Given the description of an element on the screen output the (x, y) to click on. 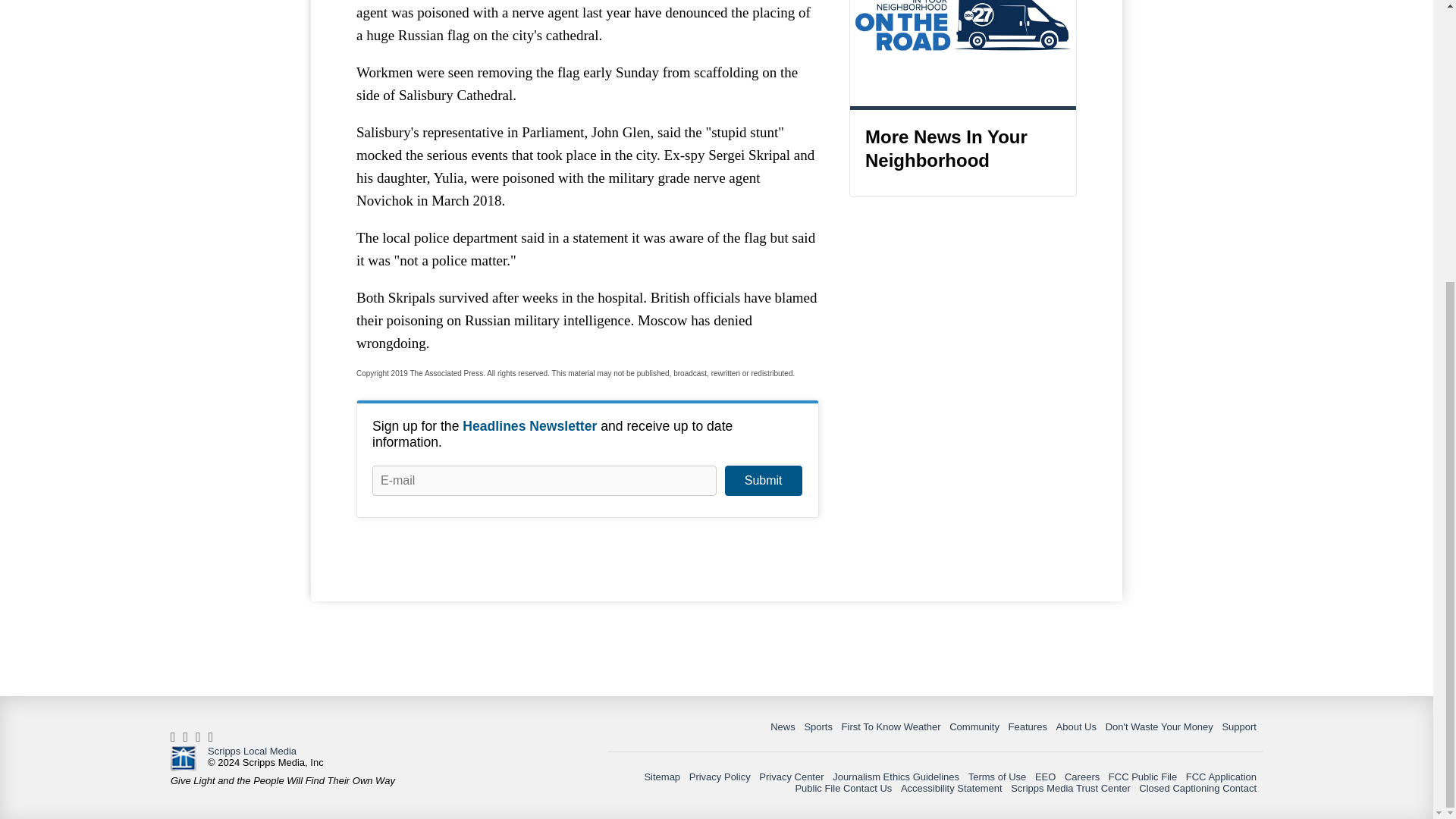
Submit (763, 481)
